Given the description of an element on the screen output the (x, y) to click on. 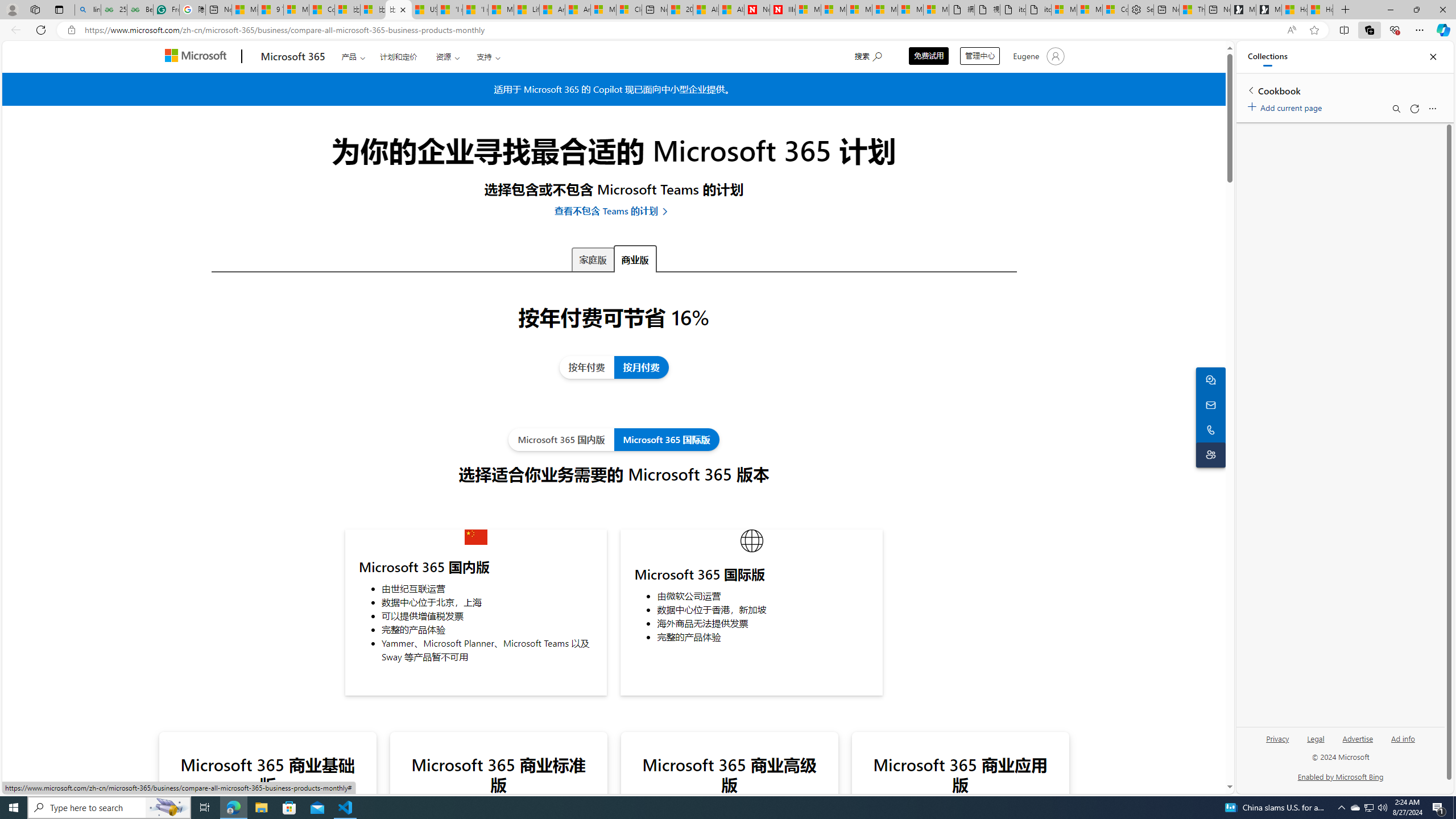
20 Ways to Boost Your Protein Intake at Every Meal (679, 9)
Three Ways To Stop Sweating So Much (1191, 9)
Illness news & latest pictures from Newsweek.com (782, 9)
